Given the description of an element on the screen output the (x, y) to click on. 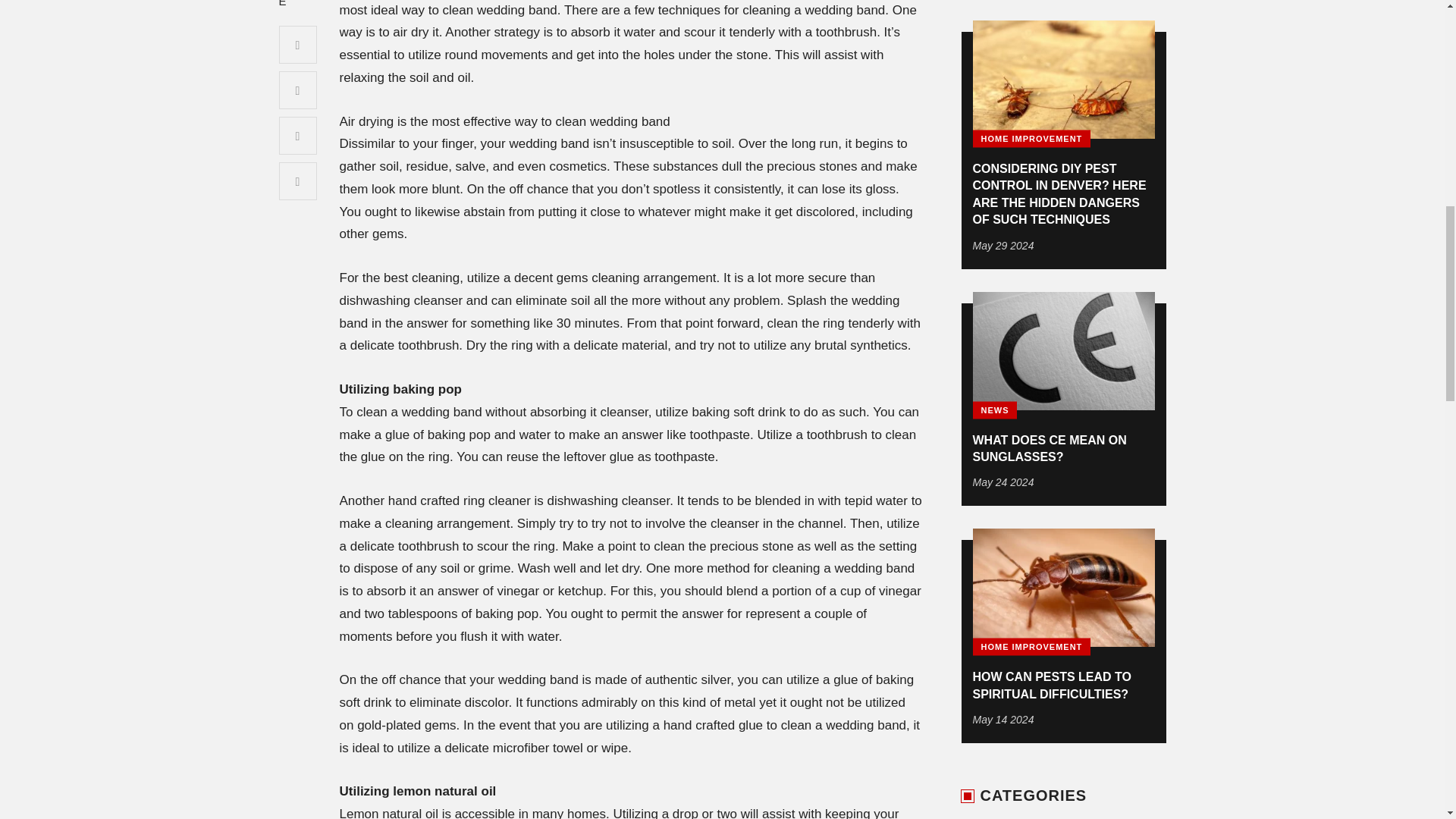
Share on Facebook (298, 44)
Share on Pinterest (298, 135)
Share on Linkedin (298, 180)
Share on Twitter (298, 89)
